Given the description of an element on the screen output the (x, y) to click on. 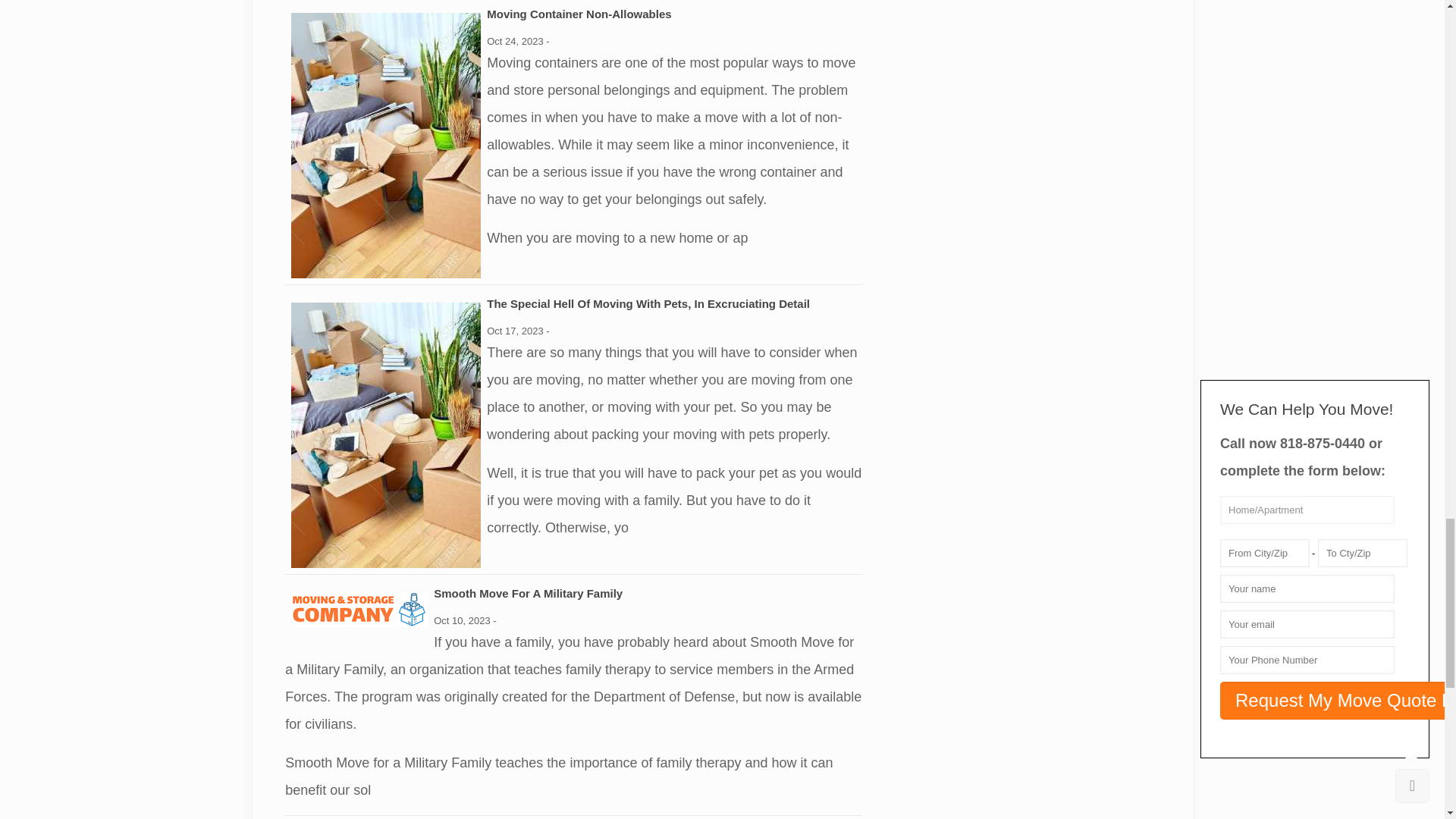
SmoothMoveForAMilitaryFamily The Moving And Storage Company (359, 609)
MovingContainerNonAllowables The Moving And Storage Company (385, 145)
